Given the description of an element on the screen output the (x, y) to click on. 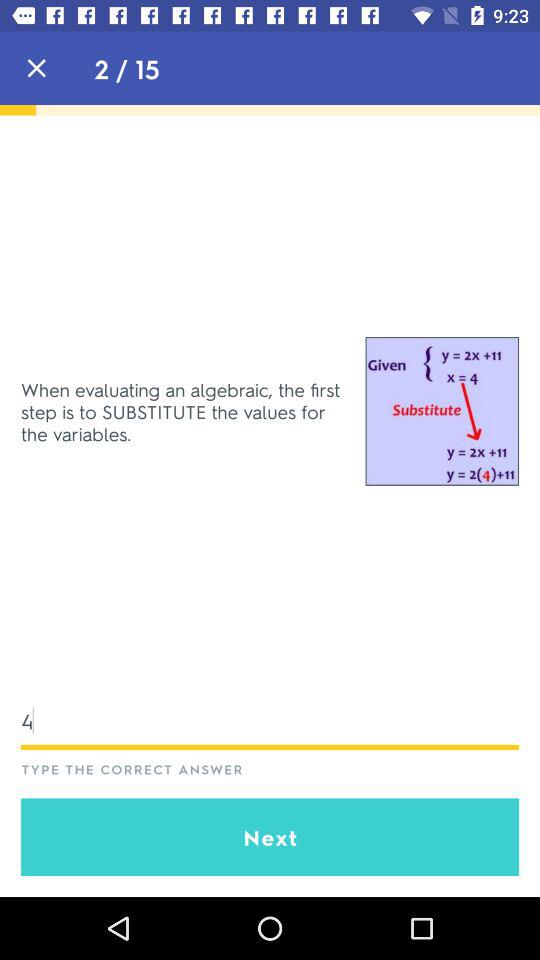
choose item below the type the correct item (270, 837)
